Given the description of an element on the screen output the (x, y) to click on. 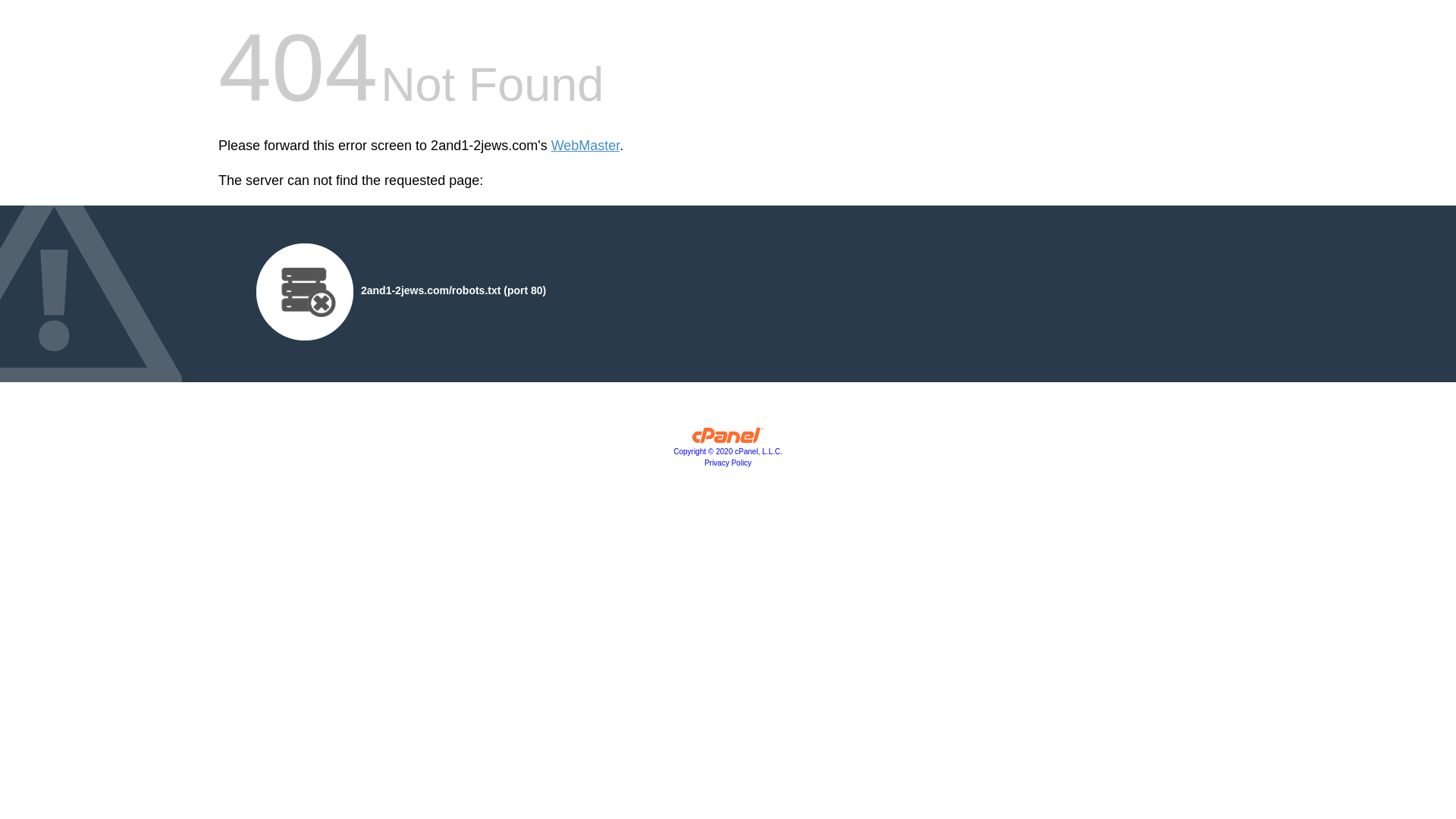
cPanel, Inc. Element type: hover (728, 439)
WebMaster Element type: text (585, 145)
Privacy Policy Element type: text (727, 462)
